Given the description of an element on the screen output the (x, y) to click on. 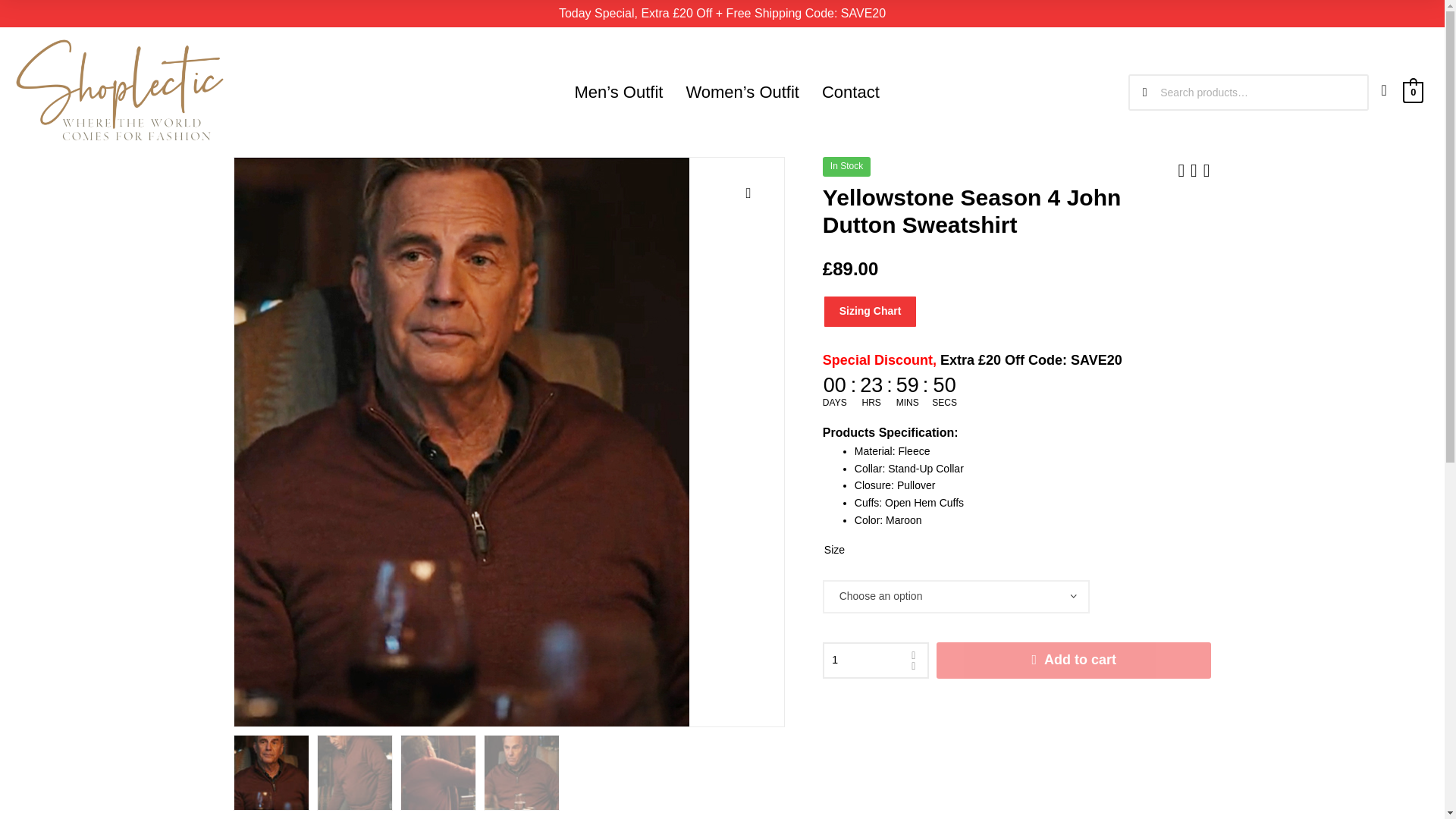
View your shopping cart (1413, 91)
Search (1328, 92)
0 (1413, 91)
Sizing Chart (869, 311)
1 (875, 660)
Add to cart (1073, 660)
Contact (850, 92)
